Given the description of an element on the screen output the (x, y) to click on. 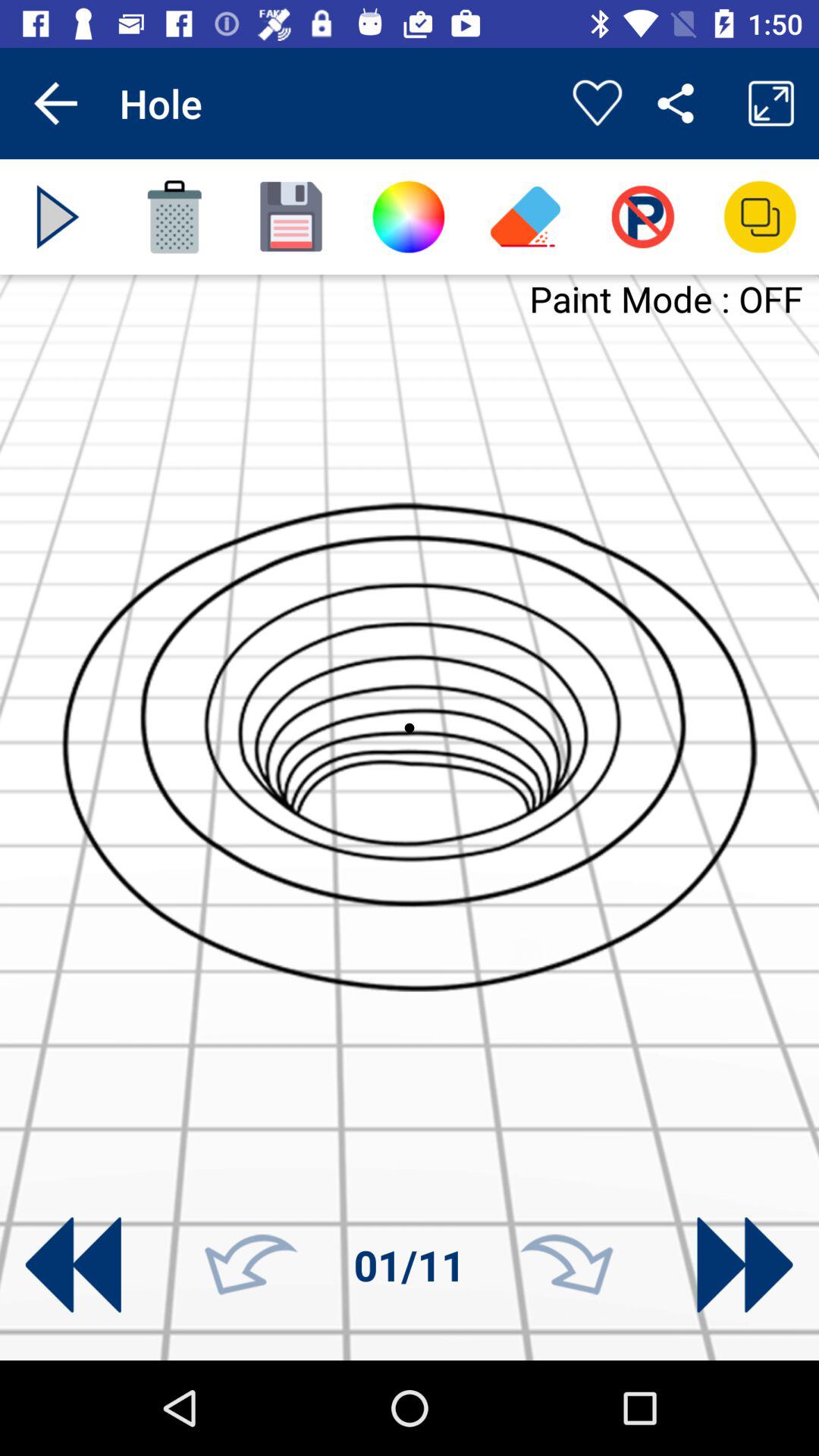
go back (251, 1264)
